Given the description of an element on the screen output the (x, y) to click on. 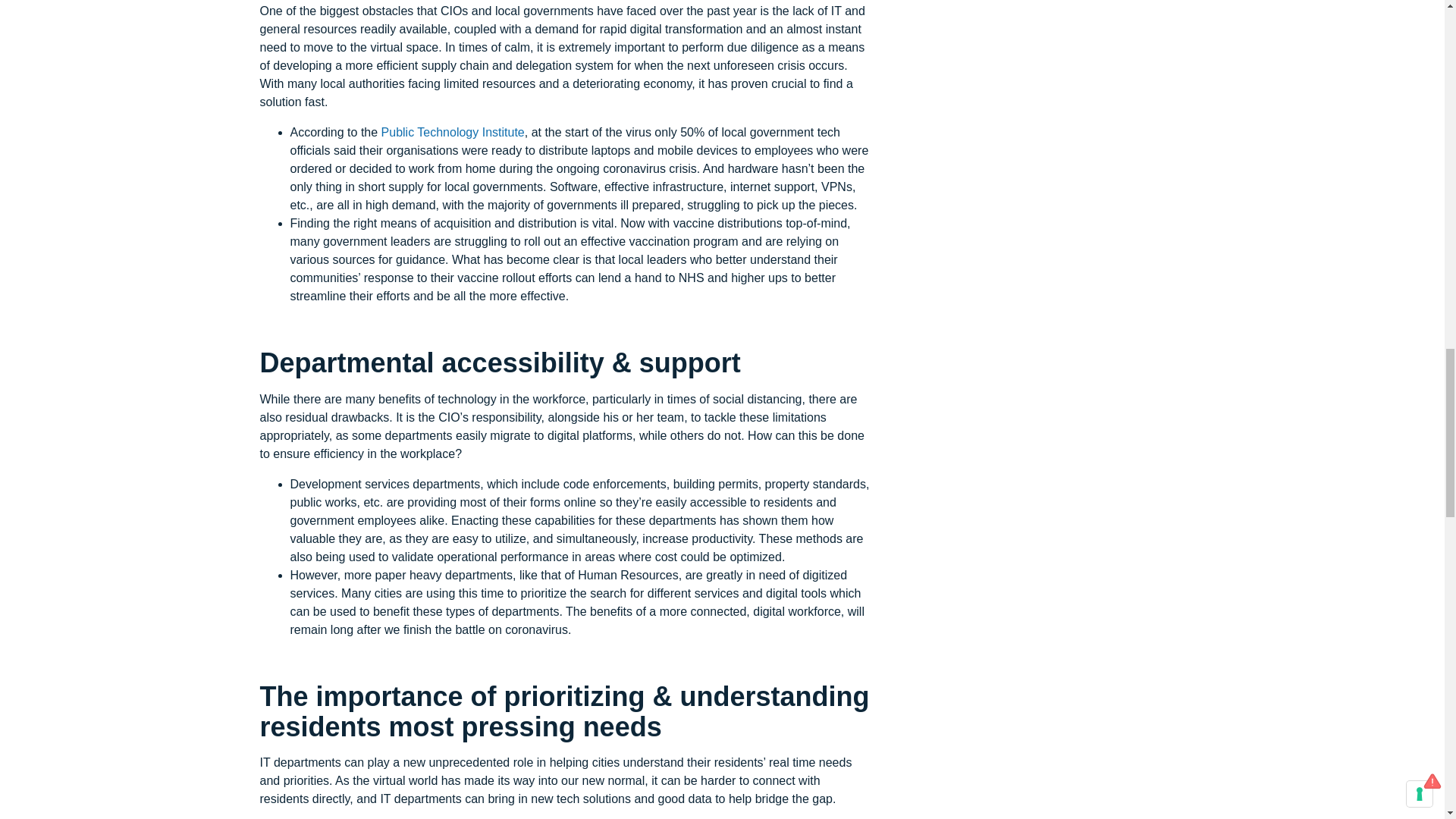
Public Technology Institute (452, 132)
